Given the description of an element on the screen output the (x, y) to click on. 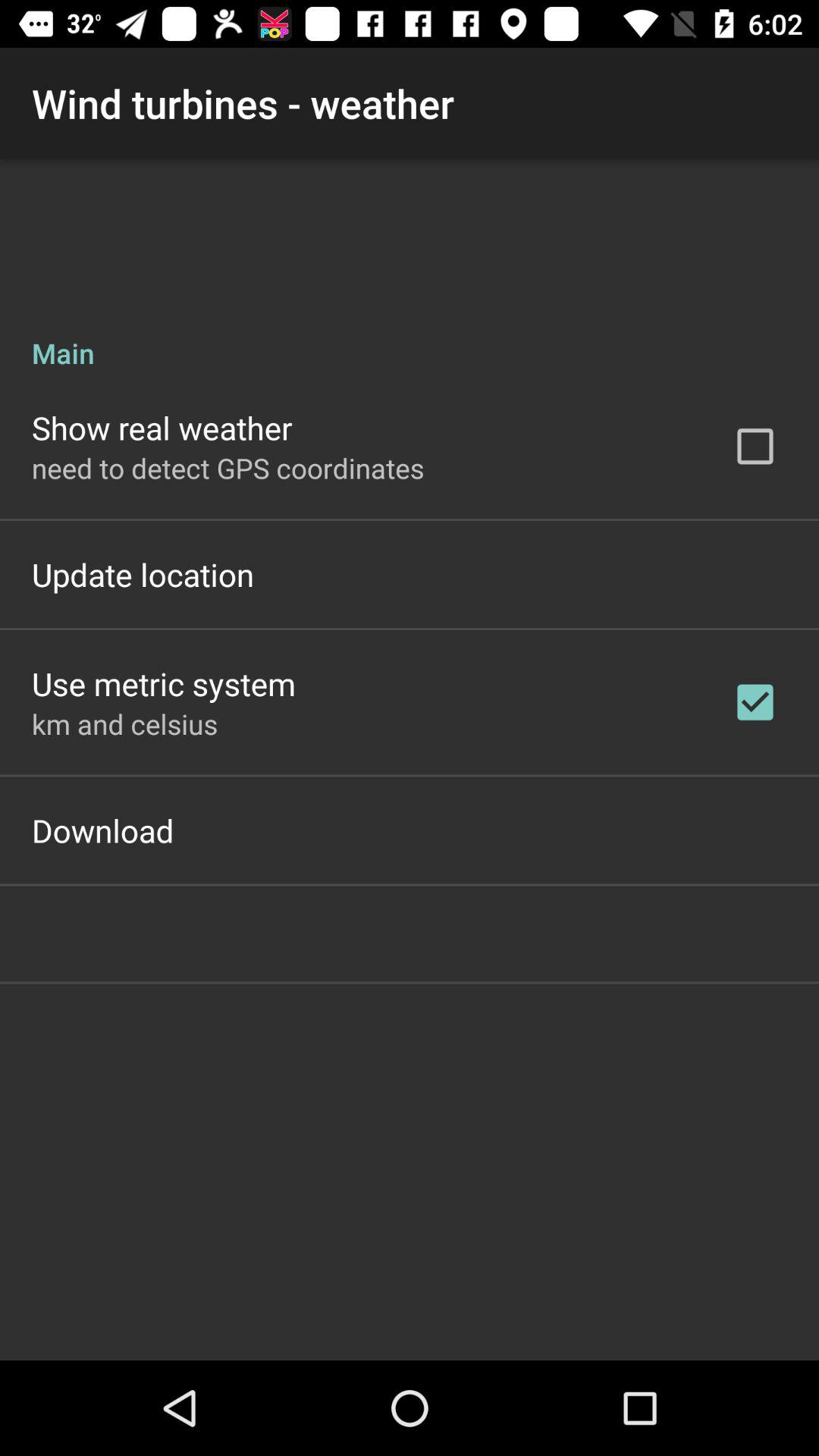
turn on app below the main item (161, 427)
